Given the description of an element on the screen output the (x, y) to click on. 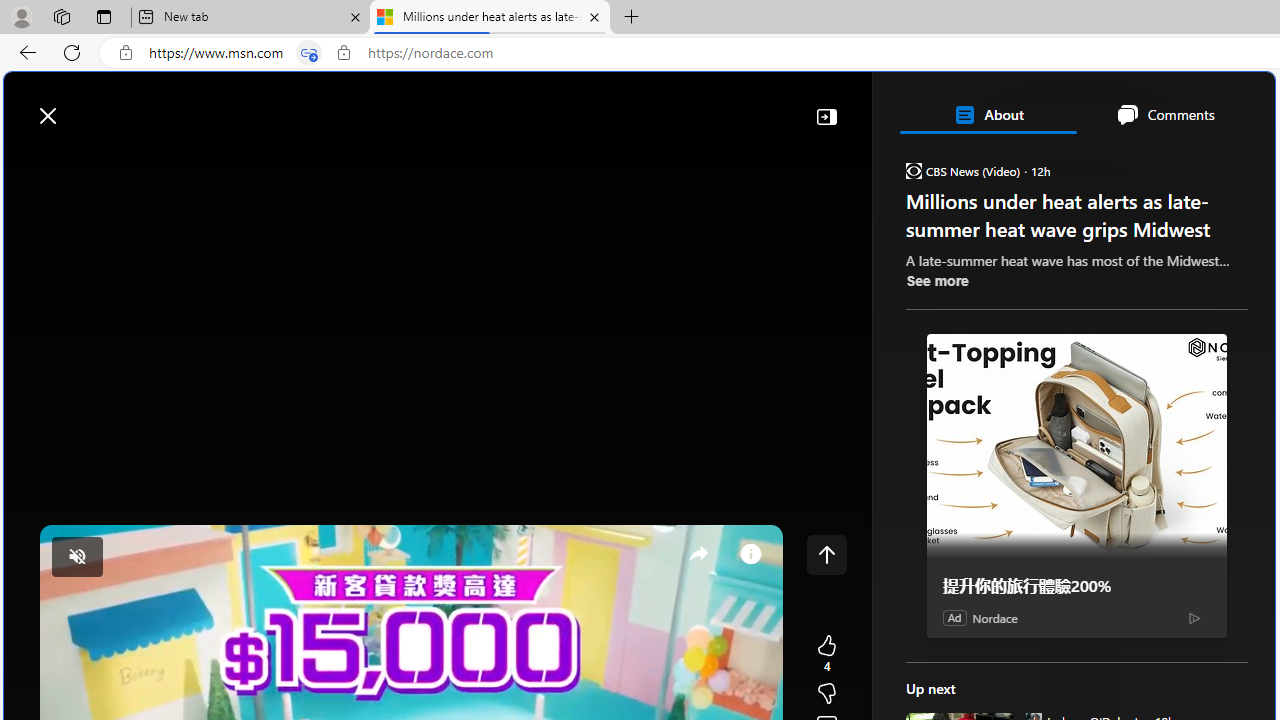
Class: button-glyph (29, 162)
Skip to footer (82, 105)
Comments (1165, 114)
Class: control icon-only (826, 554)
